Given the description of an element on the screen output the (x, y) to click on. 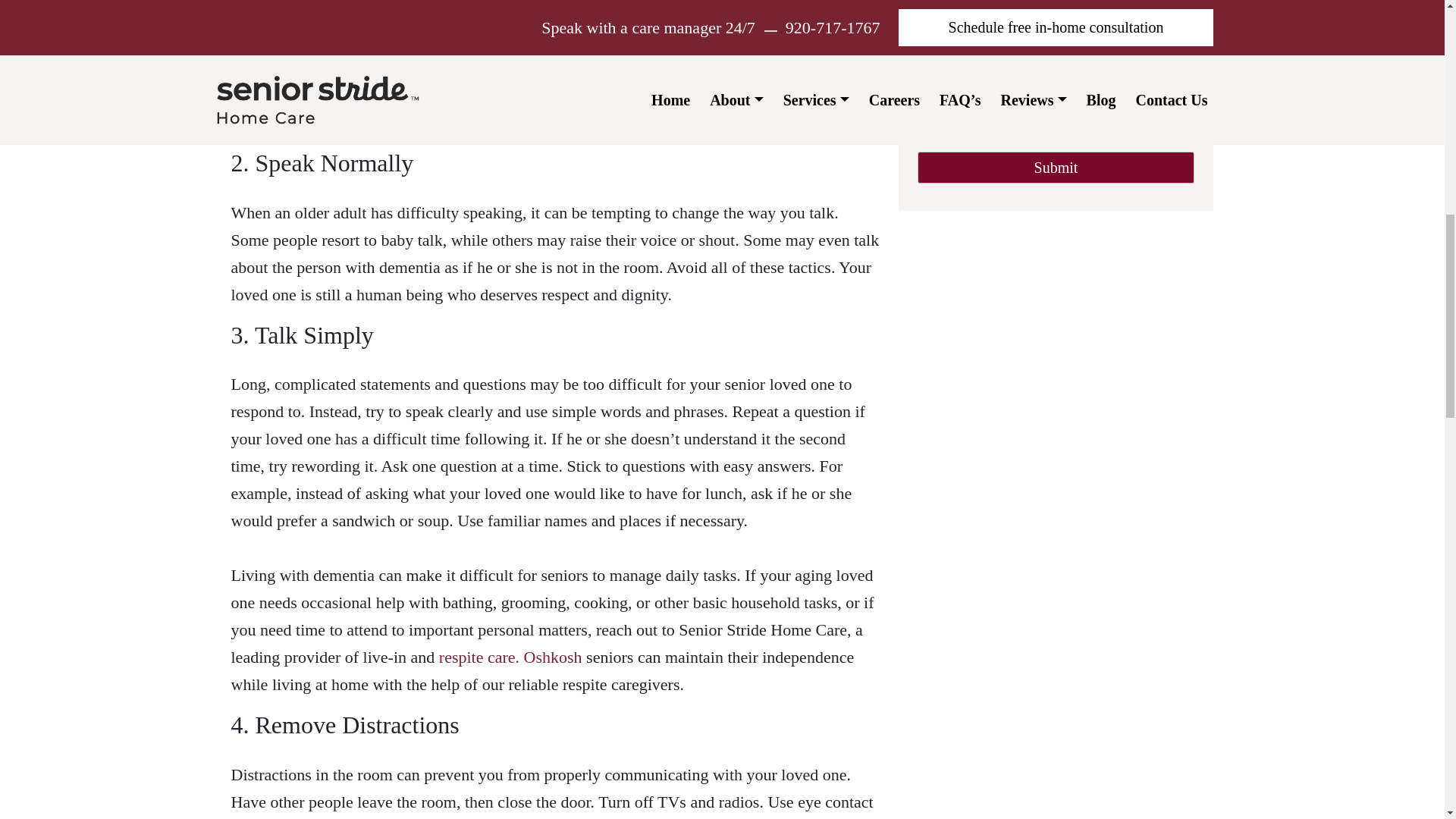
Submit (1056, 167)
Submit (1056, 167)
respite care. Oshkosh (510, 656)
